Given the description of an element on the screen output the (x, y) to click on. 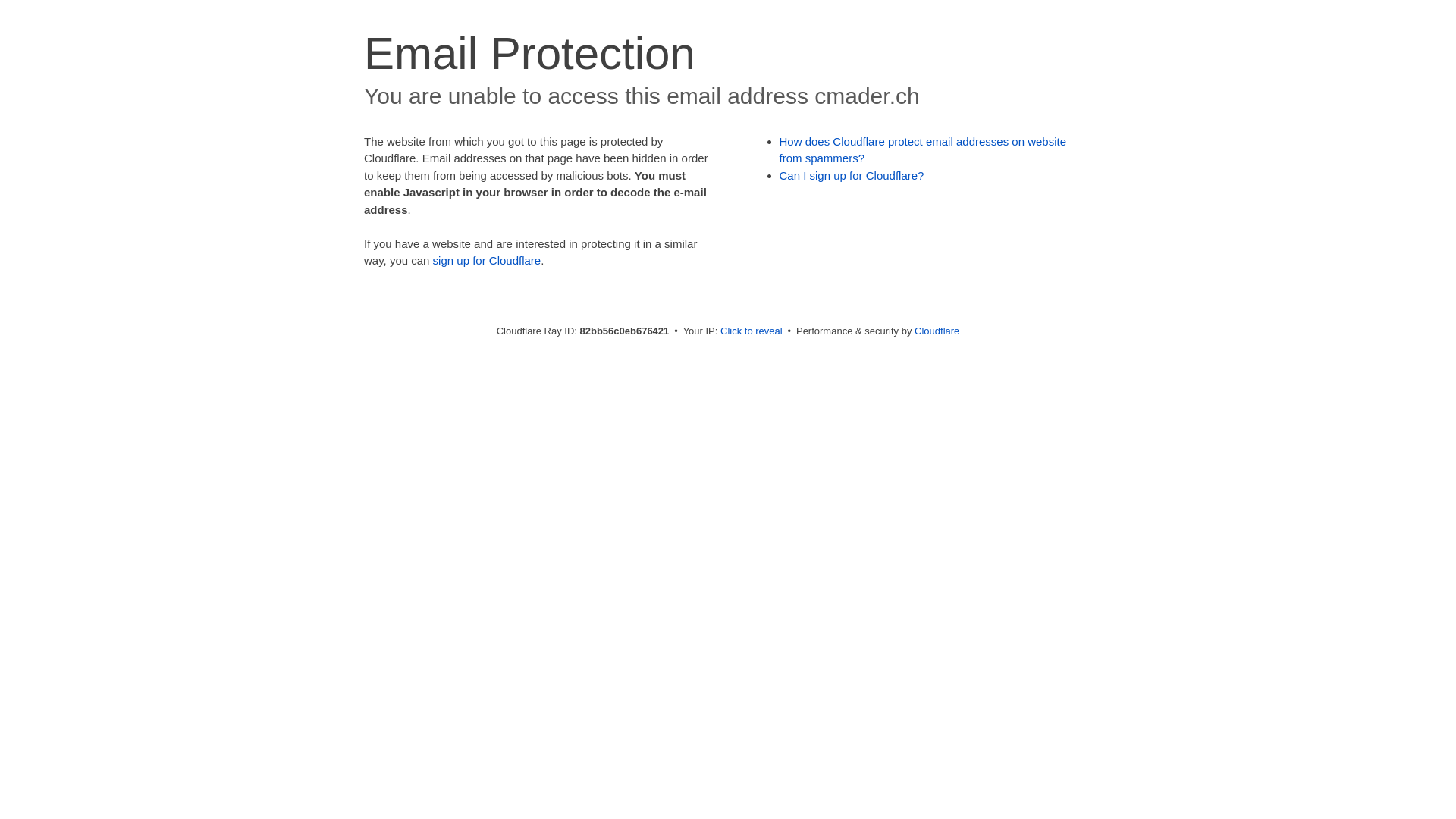
Can I sign up for Cloudflare? Element type: text (851, 175)
sign up for Cloudflare Element type: text (487, 260)
Cloudflare Element type: text (936, 330)
Click to reveal Element type: text (751, 330)
